Given the description of an element on the screen output the (x, y) to click on. 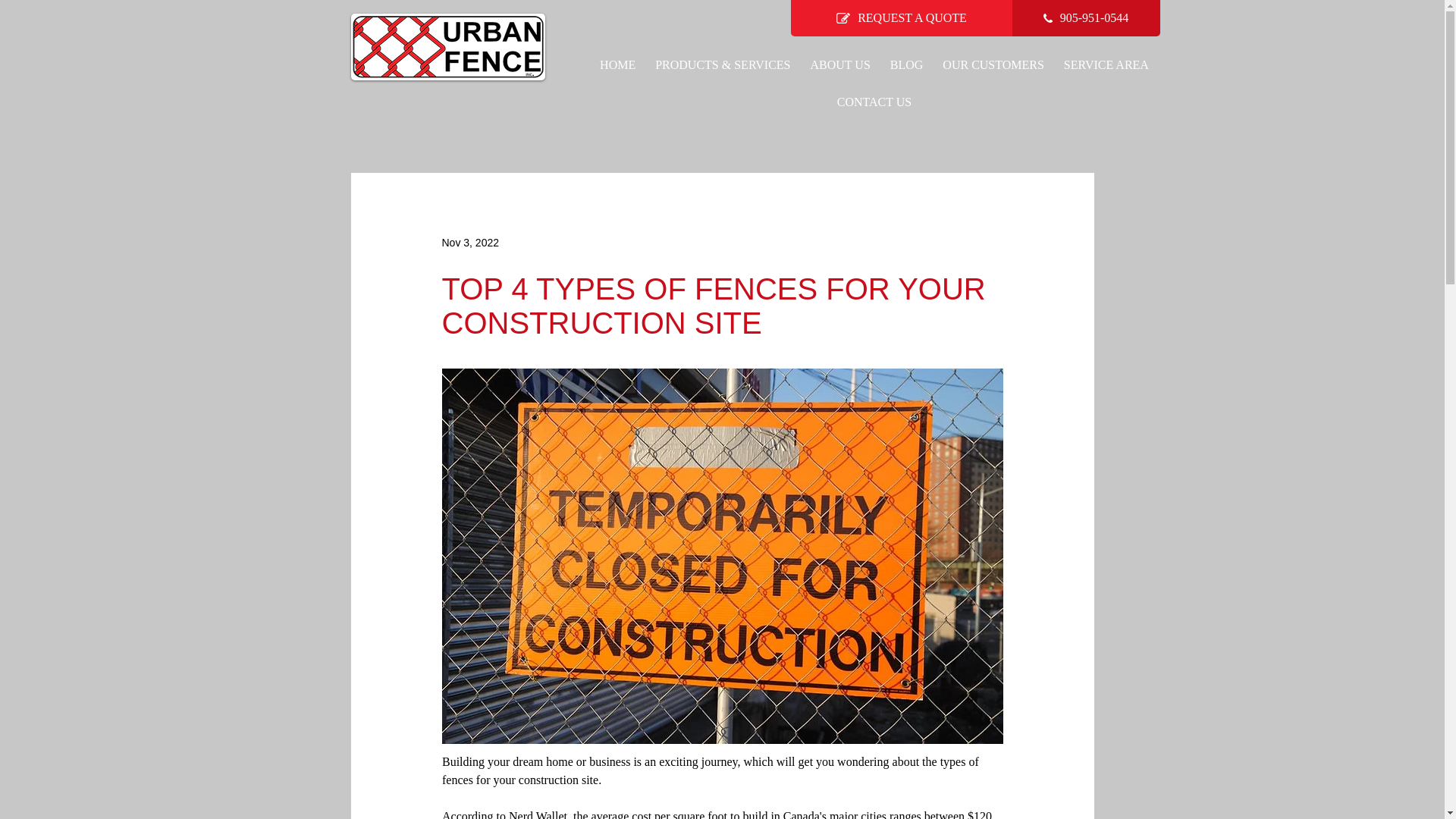
REQUEST A QUOTE (900, 18)
905-951-0544 (1084, 18)
ABOUT US (840, 64)
BLOG (906, 64)
OUR CUSTOMERS (993, 64)
CONTACT US (874, 101)
Nov 3, 2022 (470, 242)
HOME (617, 64)
